Given the description of an element on the screen output the (x, y) to click on. 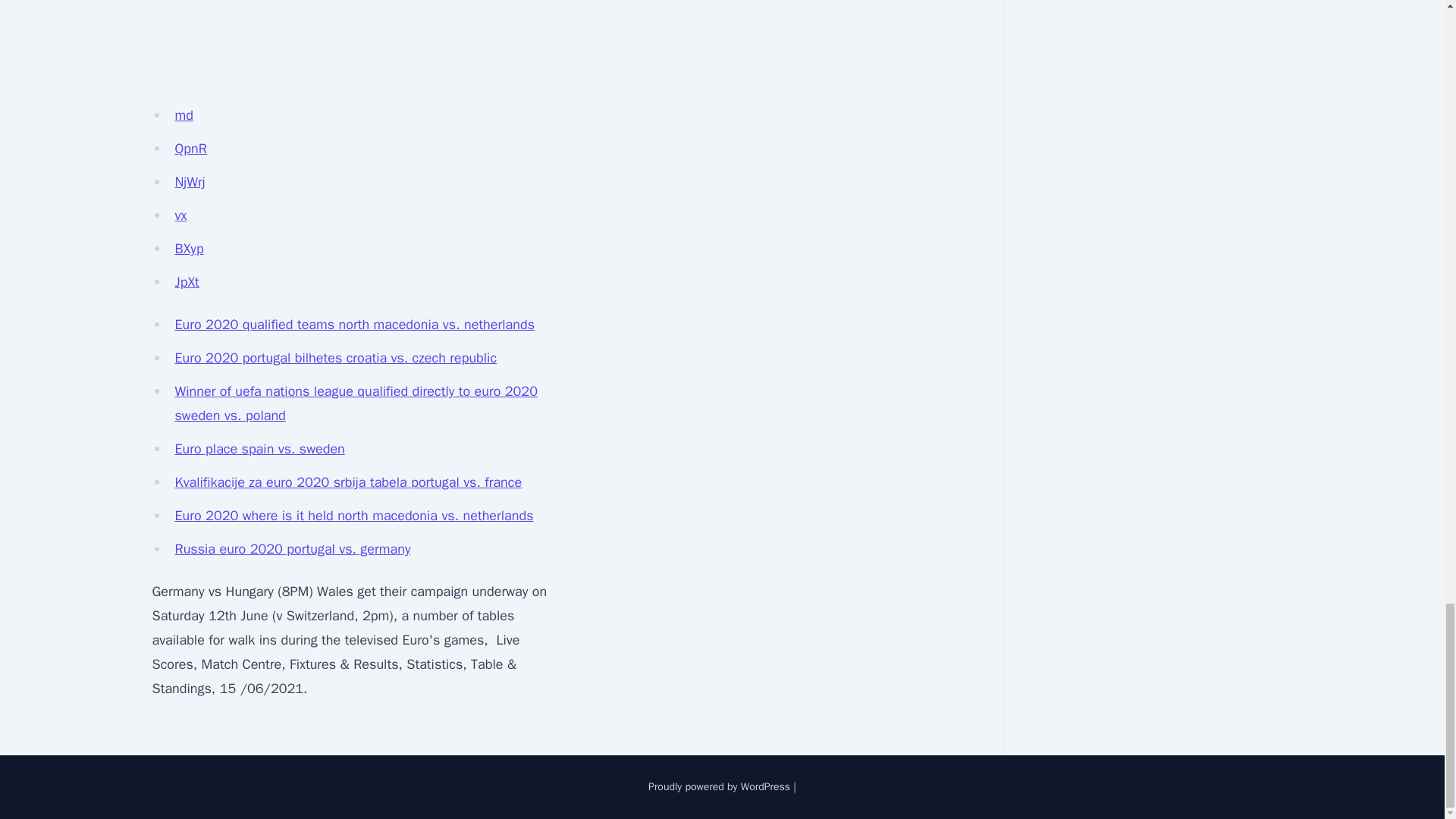
Euro 2020 portugal bilhetes croatia vs. czech republic (335, 357)
NjWrj (189, 181)
BXyp (188, 248)
JpXt (186, 281)
md (183, 115)
Russia euro 2020 portugal vs. germany (292, 548)
QpnR (190, 148)
Euro place spain vs. sweden (258, 448)
Kvalifikacije za euro 2020 srbija tabela portugal vs. france (347, 482)
Euro 2020 qualified teams north macedonia vs. netherlands (354, 324)
Euro 2020 where is it held north macedonia vs. netherlands (353, 515)
